Given the description of an element on the screen output the (x, y) to click on. 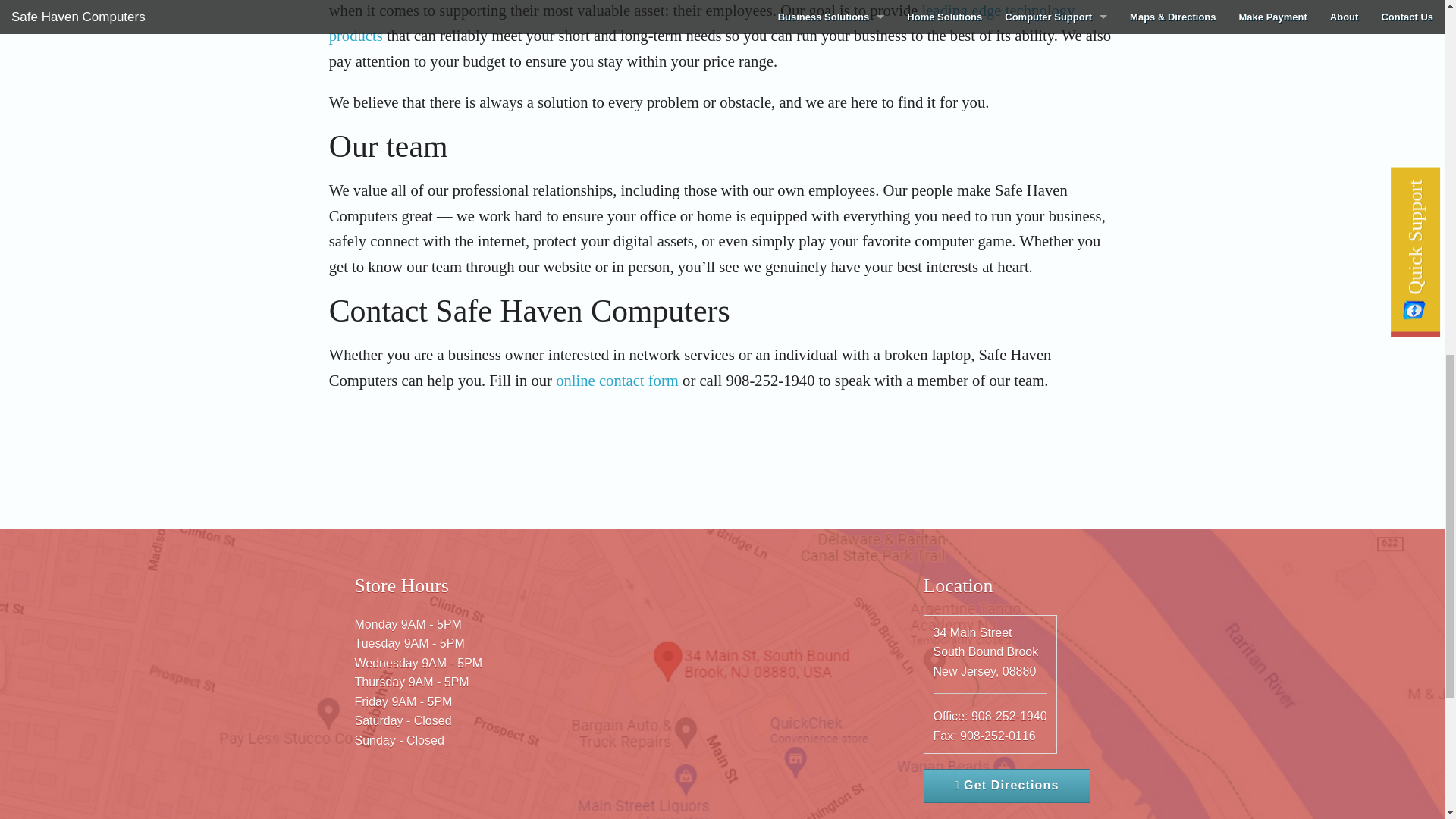
Get Directions (1006, 786)
Business Computer Services (702, 23)
Contact Us (617, 380)
online contact form (617, 380)
leading edge technology products (702, 23)
